Given the description of an element on the screen output the (x, y) to click on. 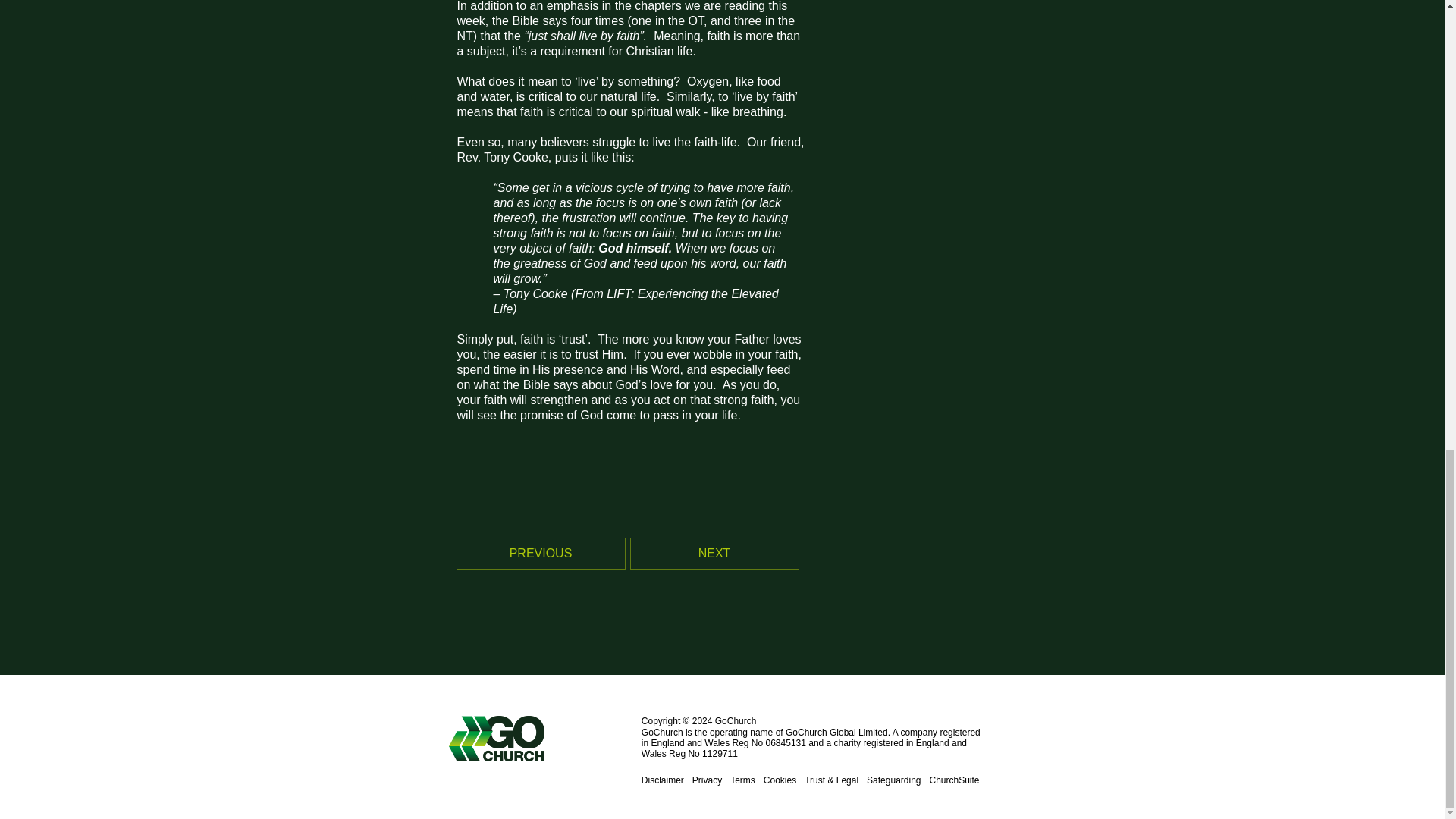
NEXT (713, 553)
PREVIOUS (540, 553)
Cookies (779, 779)
Safeguarding (893, 779)
Terms (742, 779)
GoChurch logo (545, 738)
ChurchSuite (953, 779)
Disclaimer (663, 779)
Privacy (707, 779)
